Given the description of an element on the screen output the (x, y) to click on. 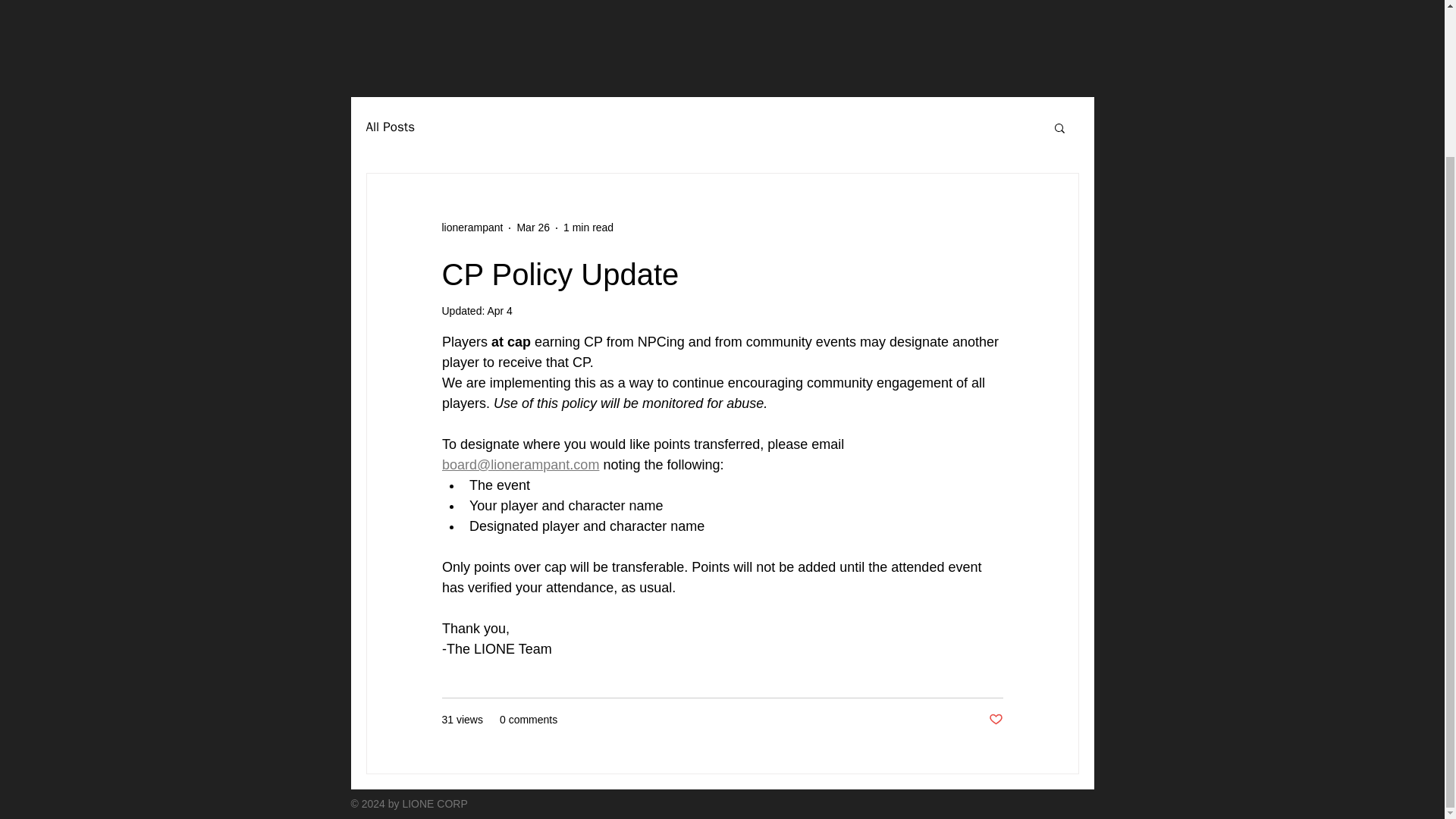
Apr 4 (499, 310)
lionerampant (471, 227)
Mar 26 (533, 227)
1 min read (587, 227)
Post not marked as liked (995, 719)
All Posts (389, 126)
